Given the description of an element on the screen output the (x, y) to click on. 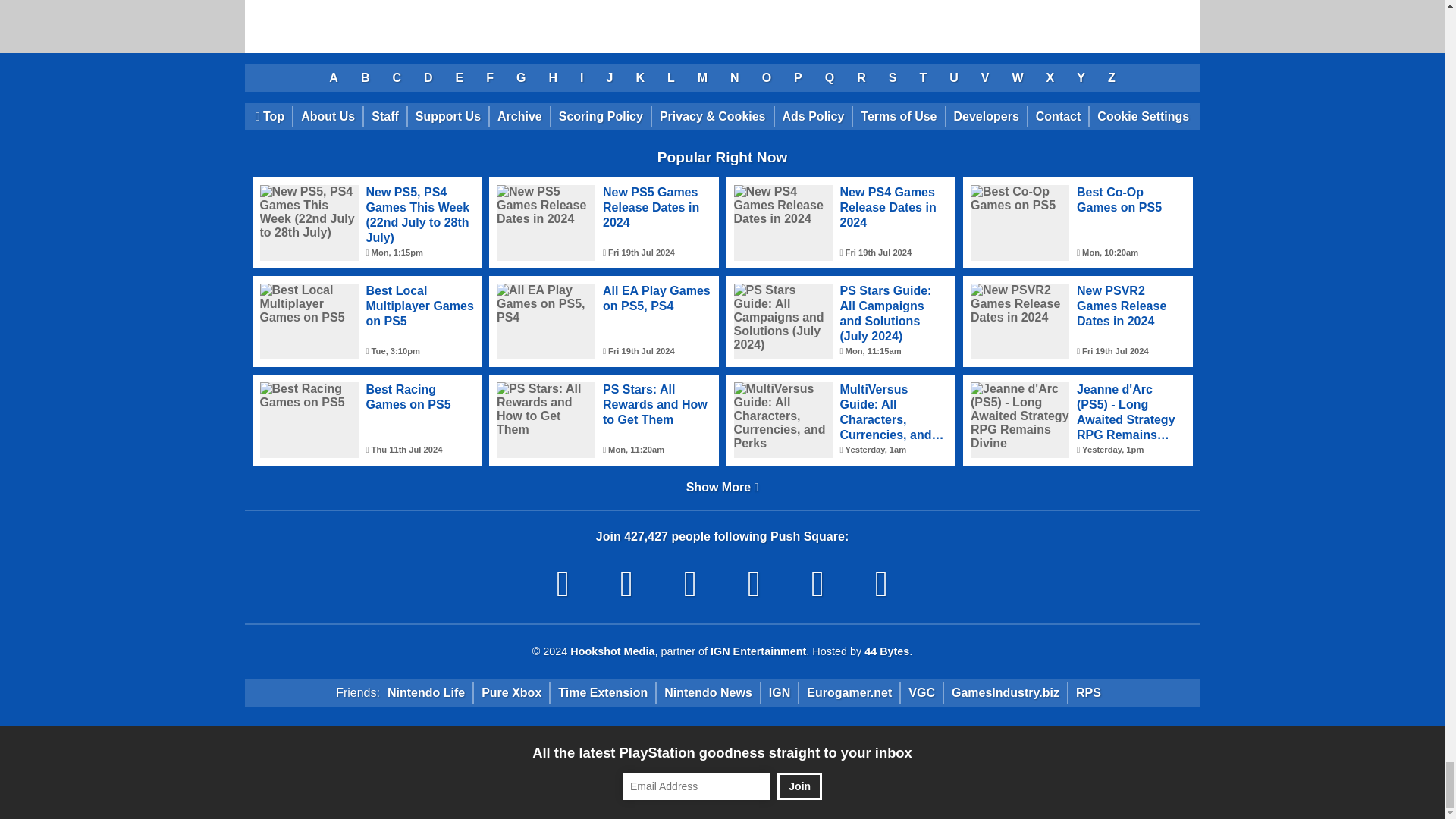
Join (799, 786)
